Given the description of an element on the screen output the (x, y) to click on. 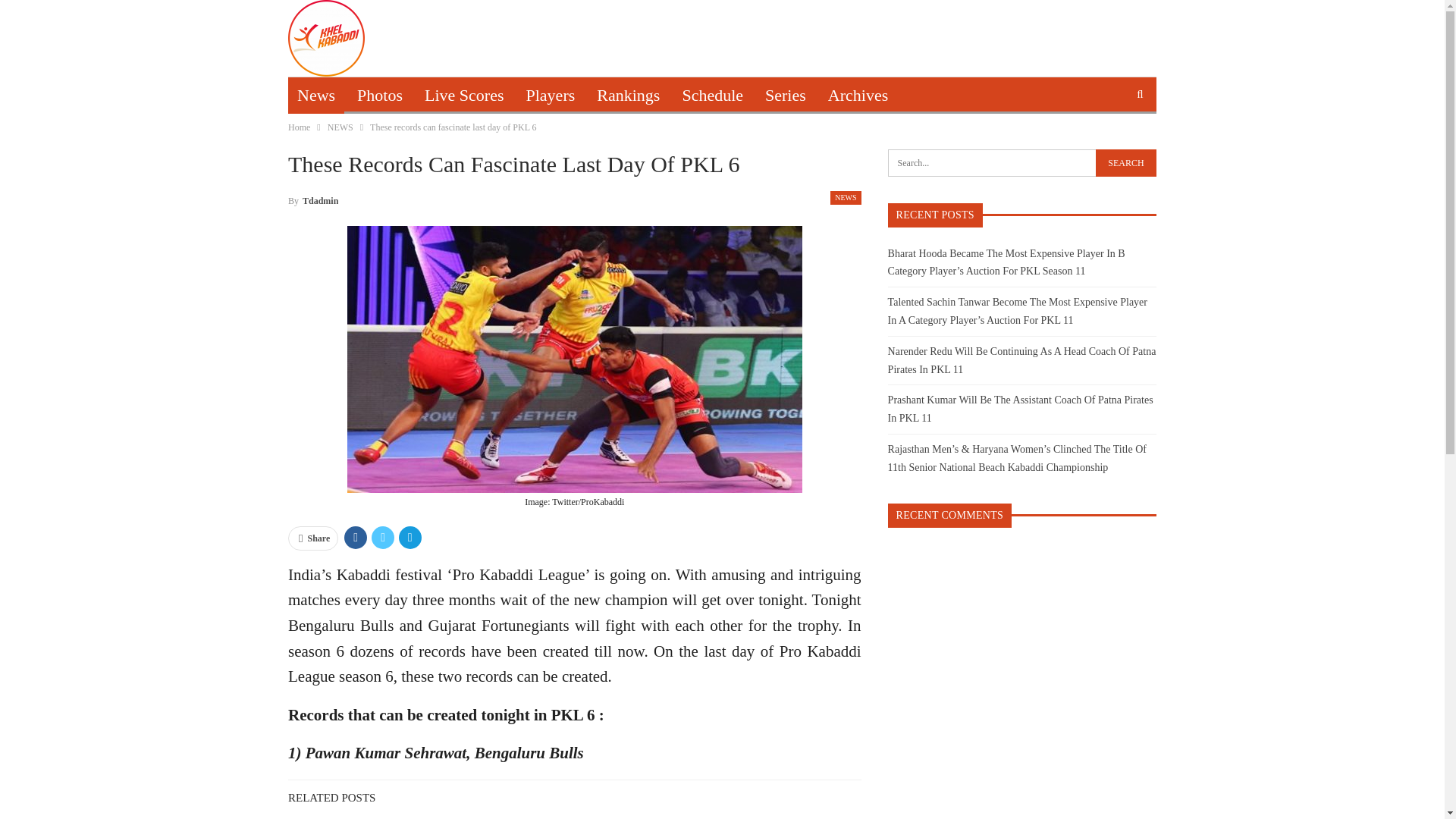
NEWS (844, 197)
Live Scores (463, 94)
Home (299, 126)
Browse Author Articles (312, 199)
NEWS (340, 126)
Search (1126, 162)
Search for: (1022, 162)
Series (785, 94)
Archives (857, 94)
Search (1126, 162)
